Given the description of an element on the screen output the (x, y) to click on. 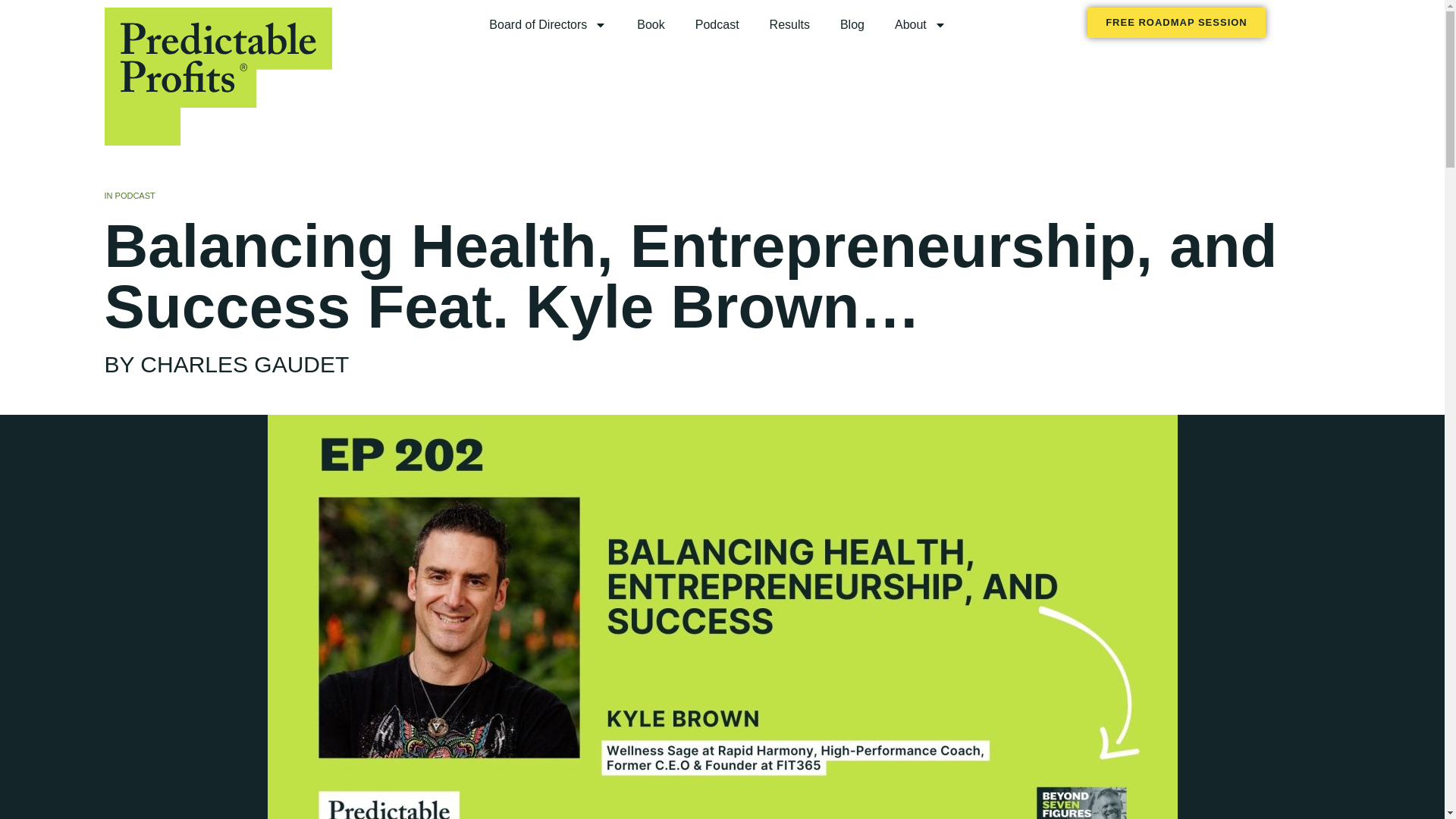
Board of Directors (547, 24)
Blog (852, 24)
Results (789, 24)
PODCAST (135, 194)
Book (650, 24)
FREE ROADMAP SESSION (1176, 22)
BY CHARLES GAUDET (226, 364)
About (919, 24)
Podcast (716, 24)
